Given the description of an element on the screen output the (x, y) to click on. 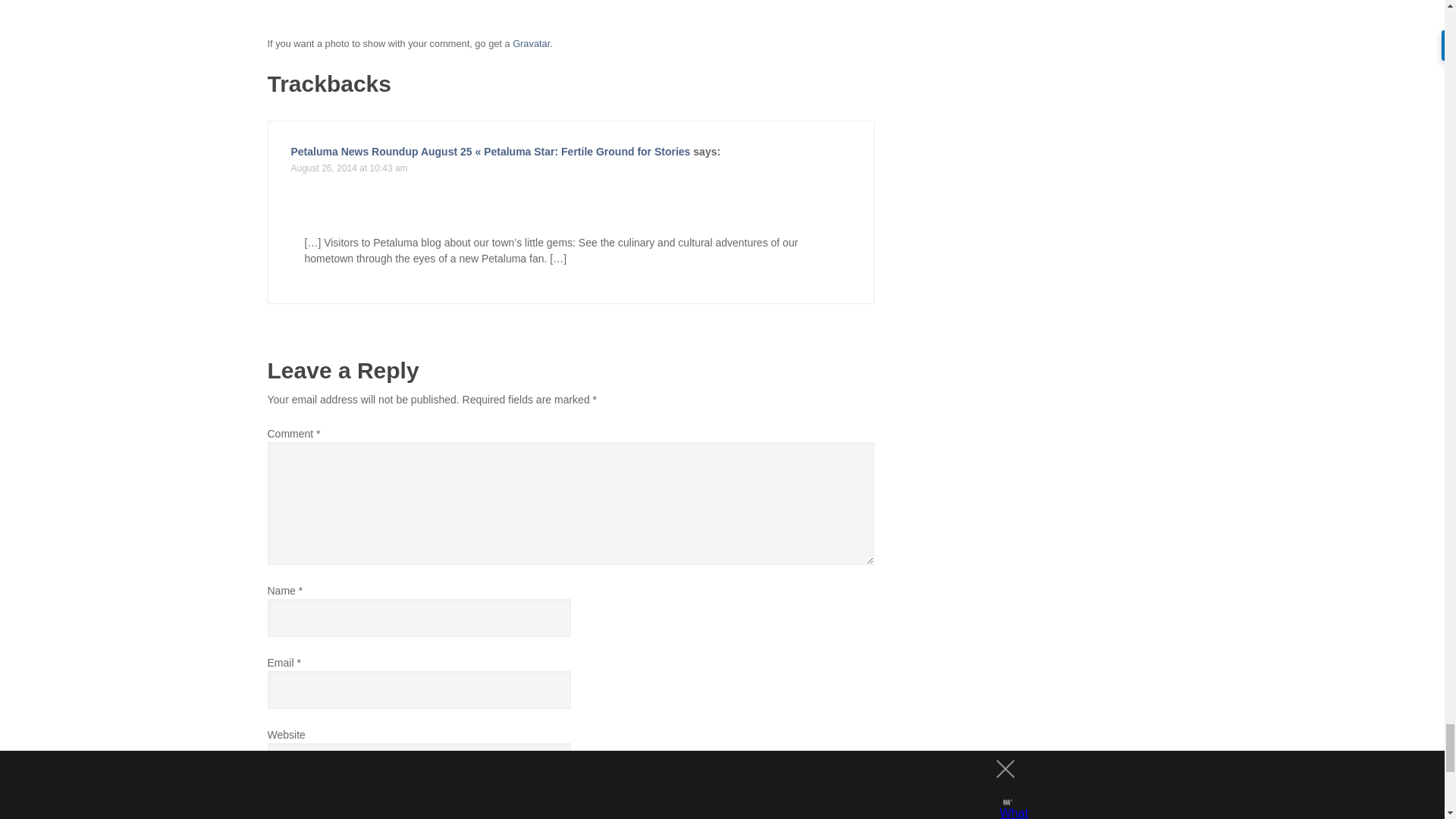
yes (569, 805)
